Given the description of an element on the screen output the (x, y) to click on. 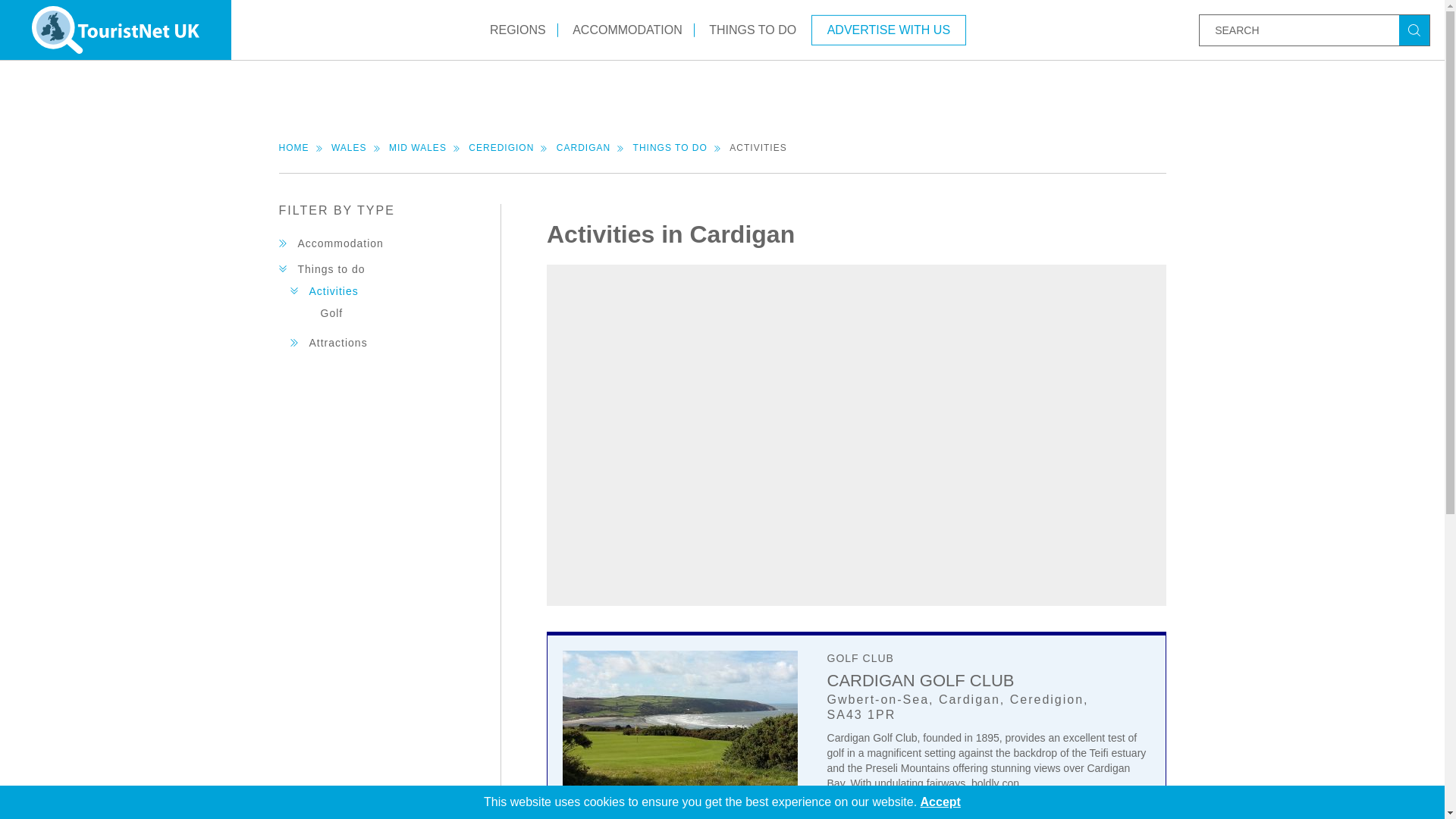
REGIONS (518, 29)
Accept (940, 801)
